Given the description of an element on the screen output the (x, y) to click on. 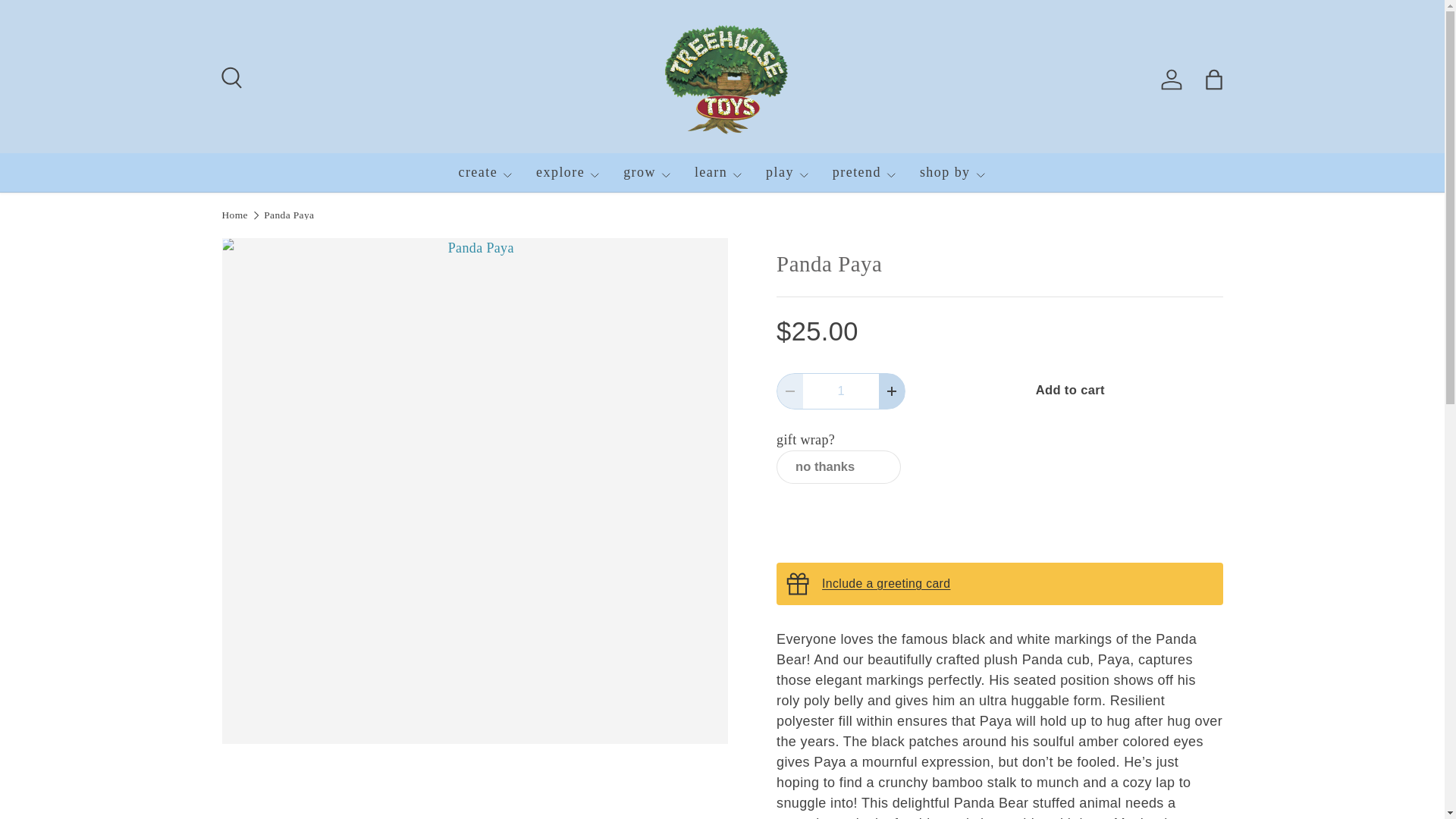
Log in (1171, 79)
Bag (1213, 79)
Skip to content (64, 21)
Search (229, 75)
1 (841, 391)
greeting cards (886, 583)
create (485, 172)
